Given the description of an element on the screen output the (x, y) to click on. 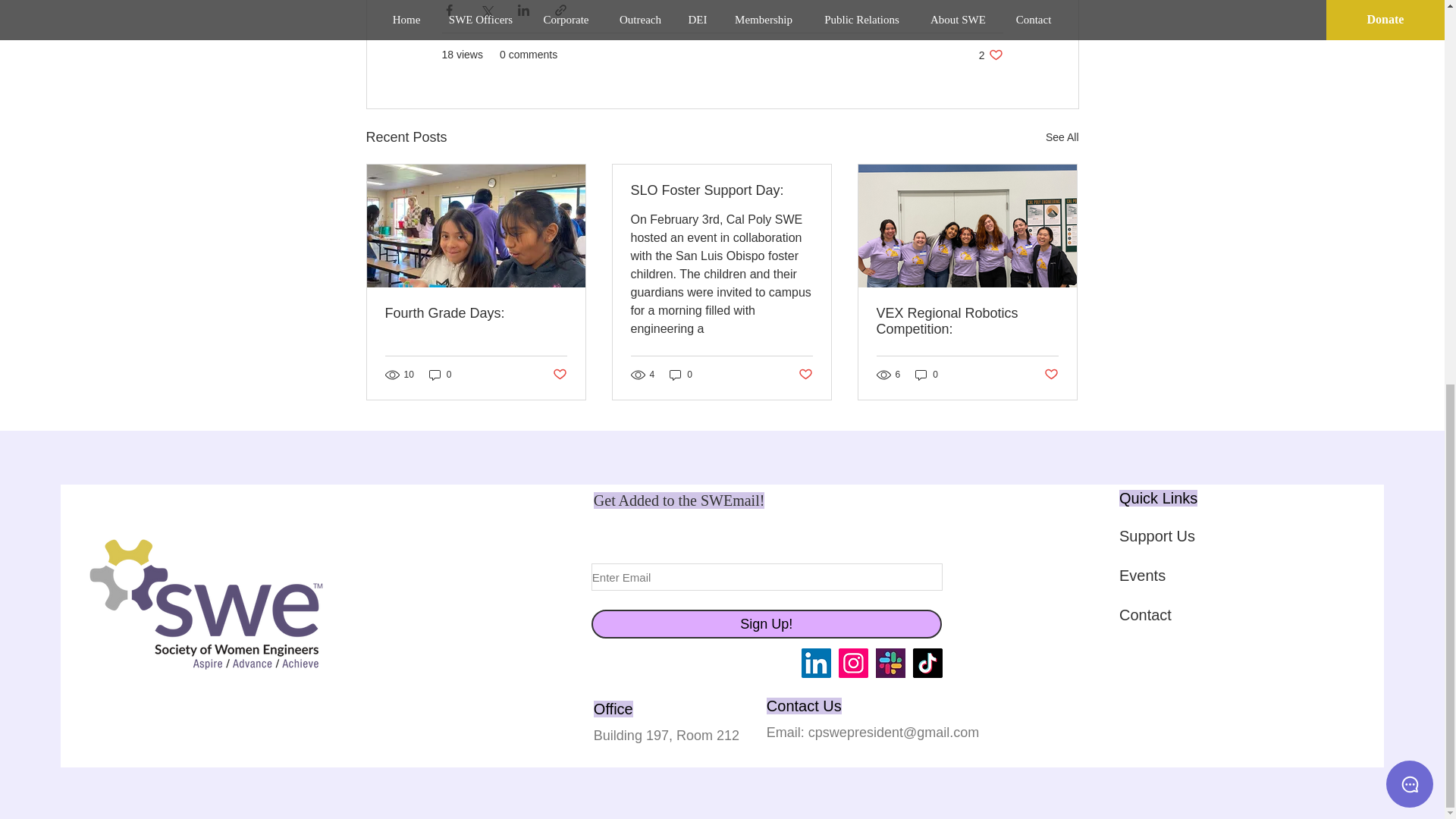
Post not marked as liked (558, 374)
SLO Foster Support Day: (721, 190)
0 (990, 54)
See All (440, 374)
VEX Regional Robotics Competition: (1061, 137)
Post not marked as liked (967, 321)
0 (804, 374)
Fourth Grade Days: (681, 374)
0 (476, 313)
